Given the description of an element on the screen output the (x, y) to click on. 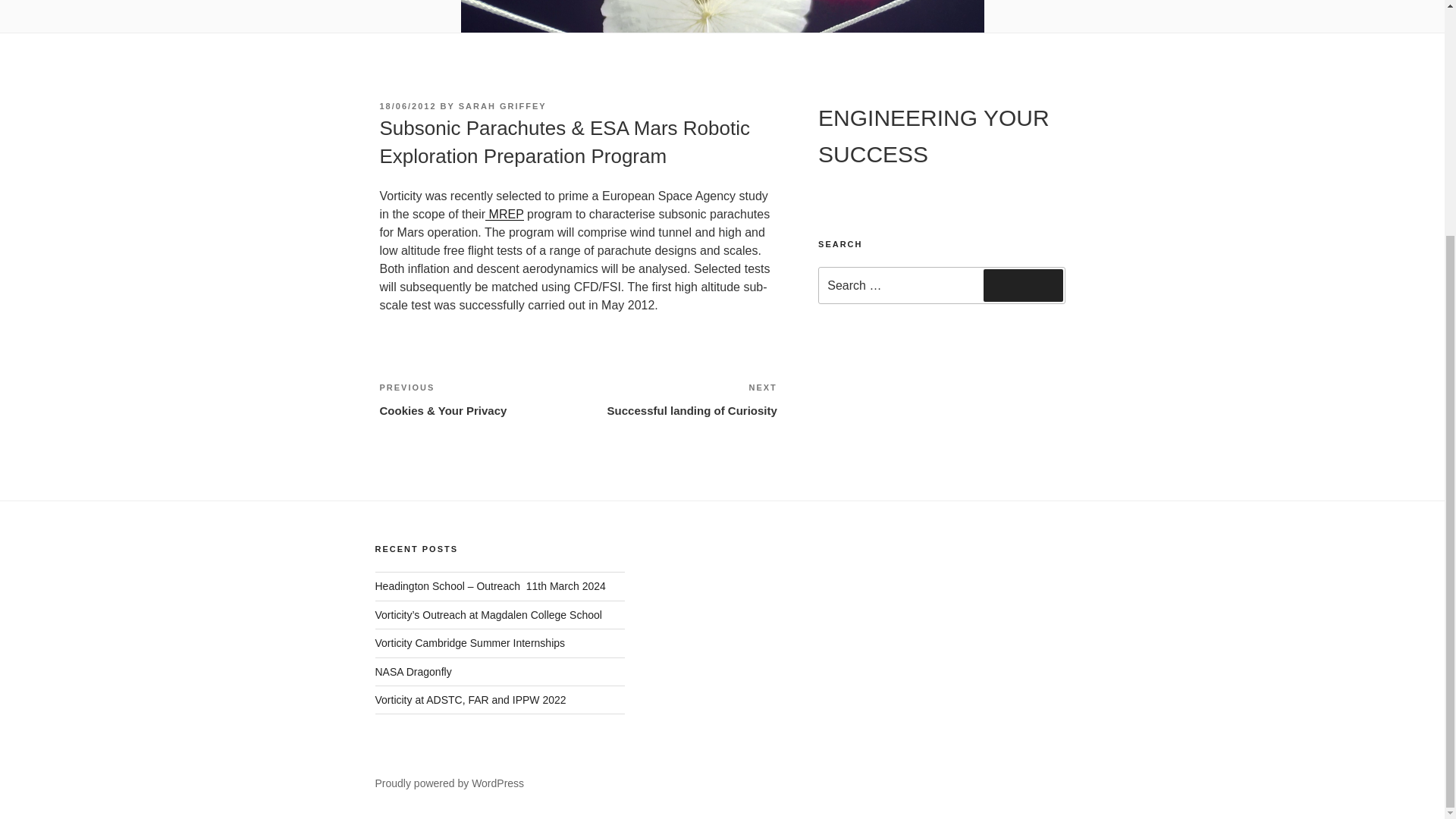
SARAH GRIFFEY (502, 105)
Search (1023, 285)
 MREP (677, 399)
